Given the description of an element on the screen output the (x, y) to click on. 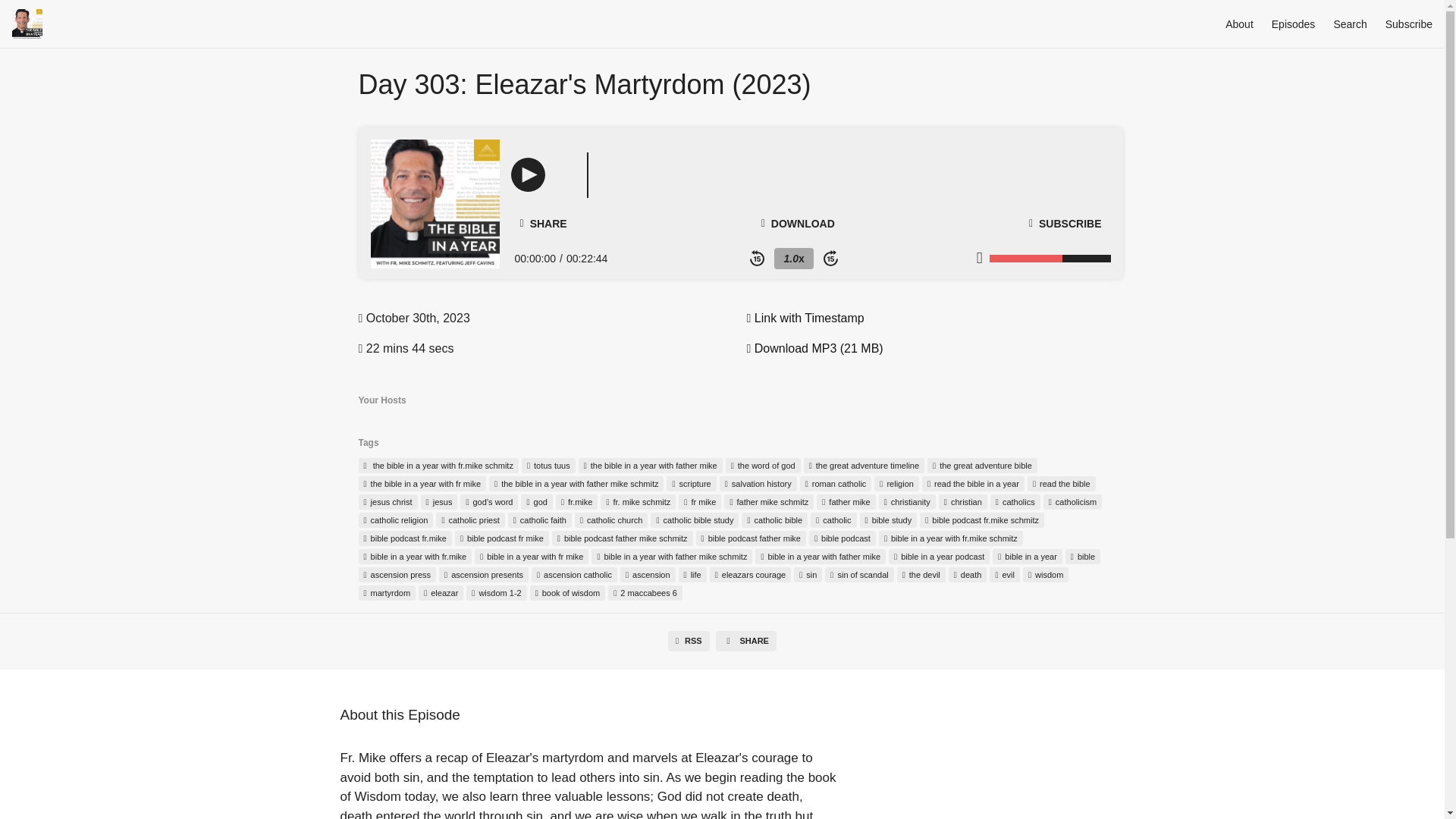
Link with Timestamp (804, 318)
scripture (691, 483)
1.0x (793, 258)
the bible in a year with father mike (650, 465)
SUBSCRIBE (1065, 223)
salvation history (757, 483)
read the bible in a year (973, 483)
totus tuus (548, 465)
the bible in a year with father mike schmitz (576, 483)
jesus (439, 501)
SHARE (543, 223)
the bible in a year with fr mike (422, 483)
jesus christ (387, 501)
roman catholic (835, 483)
Episodes (1293, 24)
